Given the description of an element on the screen output the (x, y) to click on. 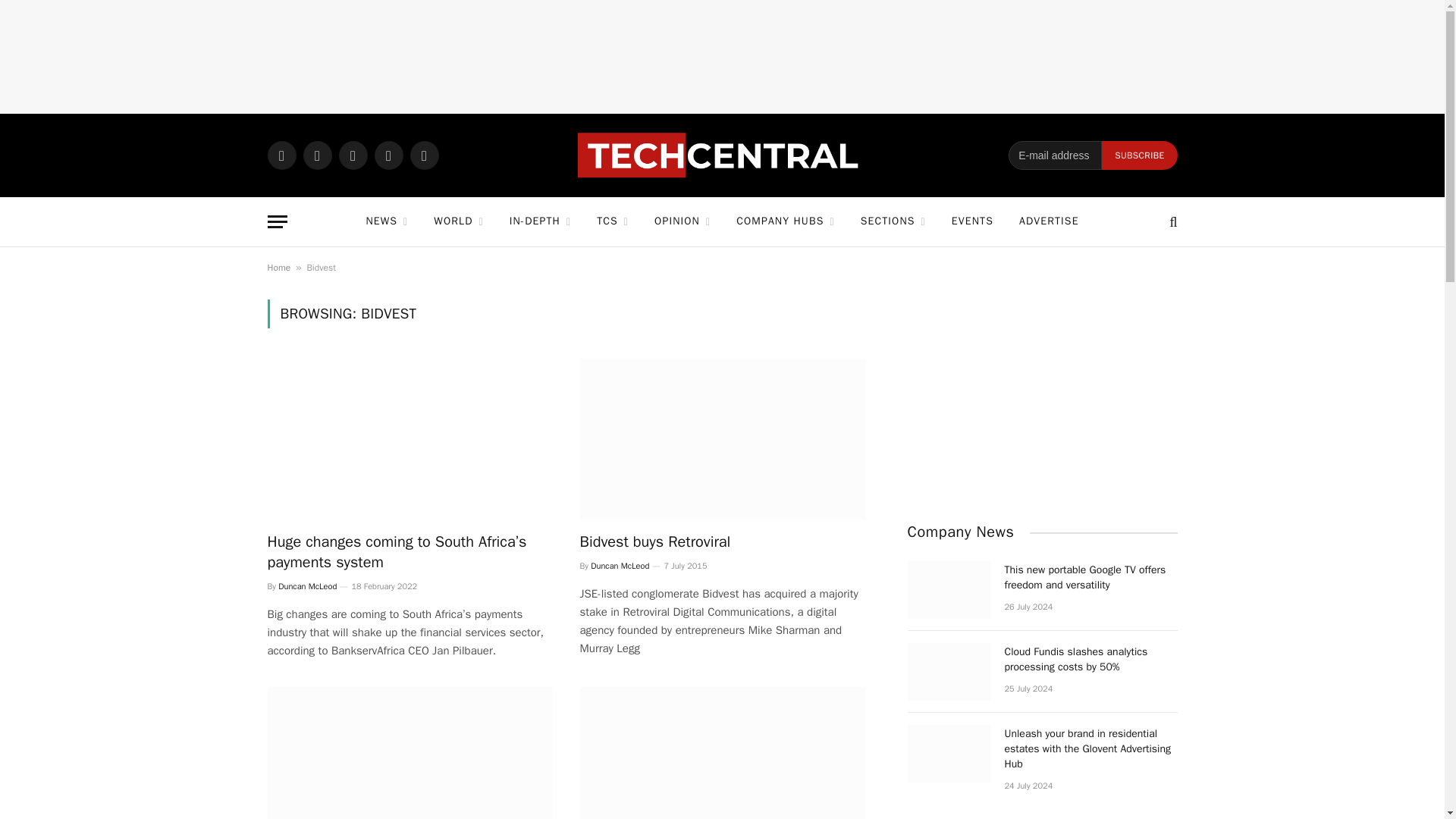
WhatsApp (280, 154)
Facebook (316, 154)
NEWS (386, 221)
YouTube (423, 154)
Subscribe (1139, 154)
LinkedIn (388, 154)
TechCentral (722, 155)
Subscribe (1139, 154)
WORLD (458, 221)
IN-DEPTH (539, 221)
